Given the description of an element on the screen output the (x, y) to click on. 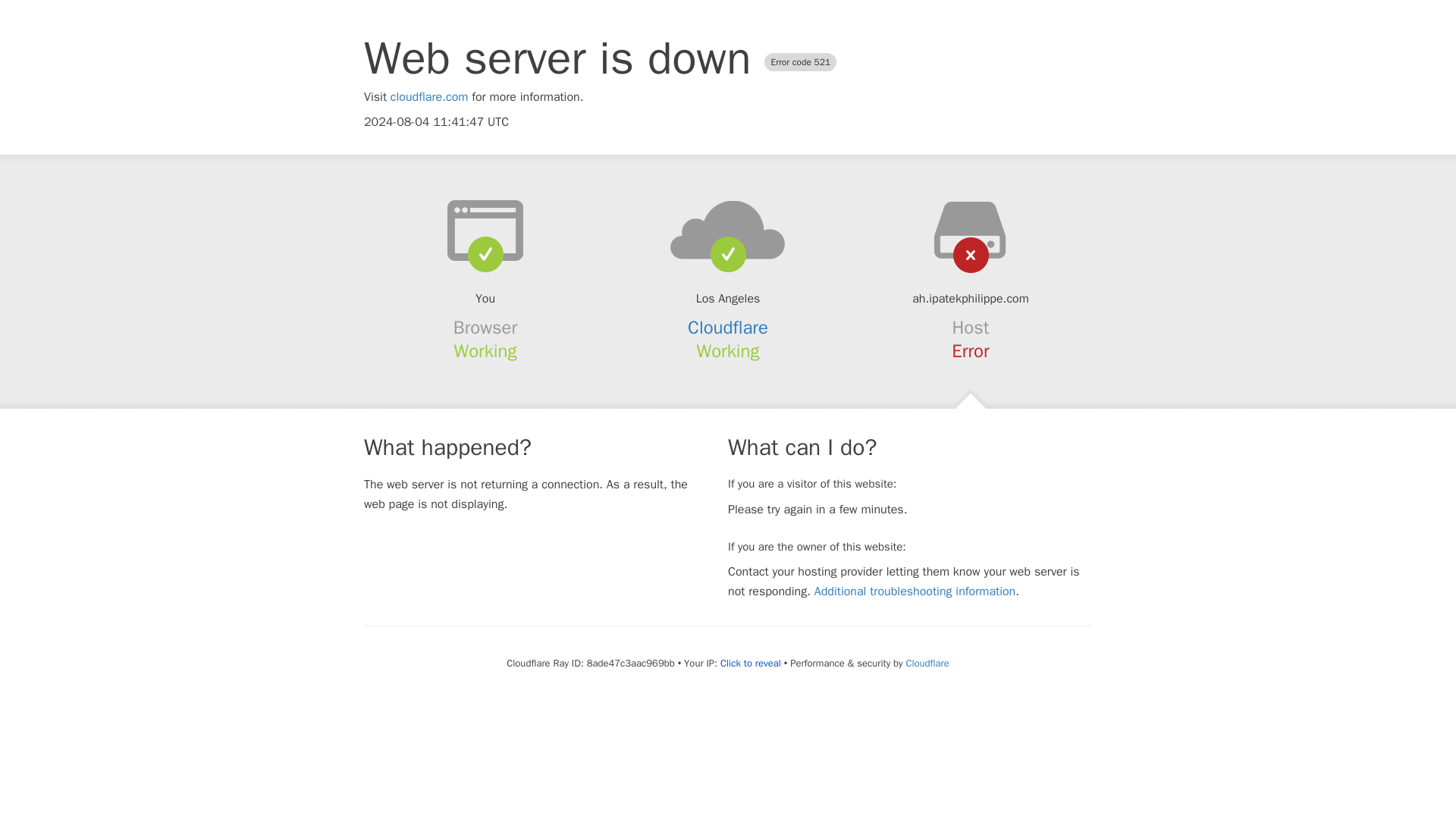
Cloudflare (727, 327)
Click to reveal (750, 663)
Additional troubleshooting information (913, 590)
Cloudflare (927, 662)
cloudflare.com (429, 96)
